Given the description of an element on the screen output the (x, y) to click on. 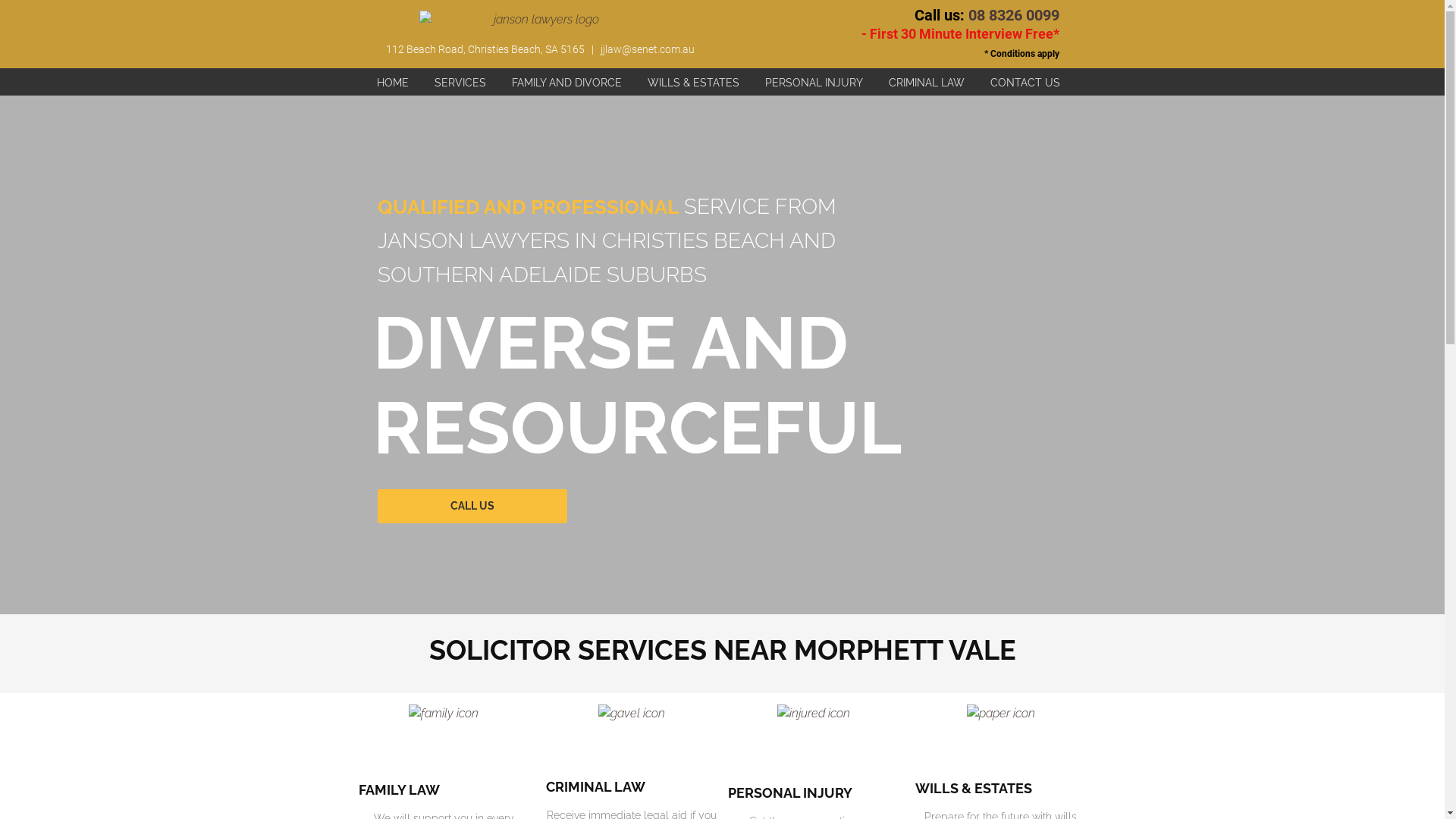
jjlaw@senet.com.au Element type: text (647, 49)
  Element type: text (585, 49)
WILLS & ESTATES Element type: text (693, 81)
Criminal Law Element type: hover (630, 737)
CALL US Element type: text (472, 506)
CONTACT US Element type: text (1025, 81)
Wills & estates Element type: hover (1000, 738)
Family Law Element type: hover (443, 739)
Janson Lawyers Element type: hover (539, 23)
FAMILY AND DIVORCE Element type: text (566, 81)
  Element type: text (587, 49)
SERVICES Element type: text (460, 81)
HOME Element type: text (392, 81)
Personal injury Element type: hover (812, 740)
CRIMINAL LAW Element type: text (926, 81)
PERSONAL INJURY Element type: text (813, 81)
08 8326 0099 Element type: text (1012, 15)
